Given the description of an element on the screen output the (x, y) to click on. 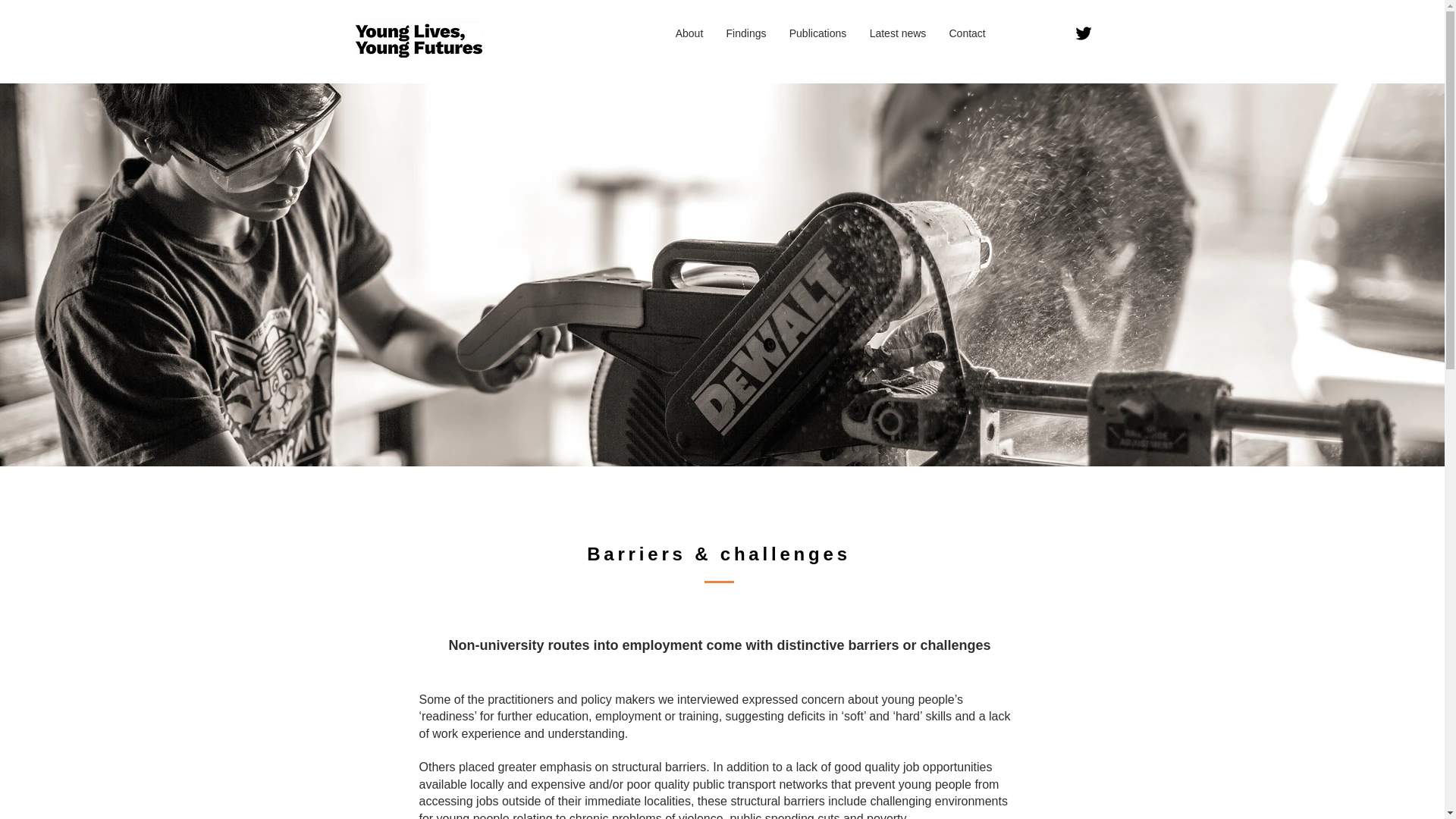
Contact (966, 33)
Latest news (898, 33)
Publications (818, 33)
